Given the description of an element on the screen output the (x, y) to click on. 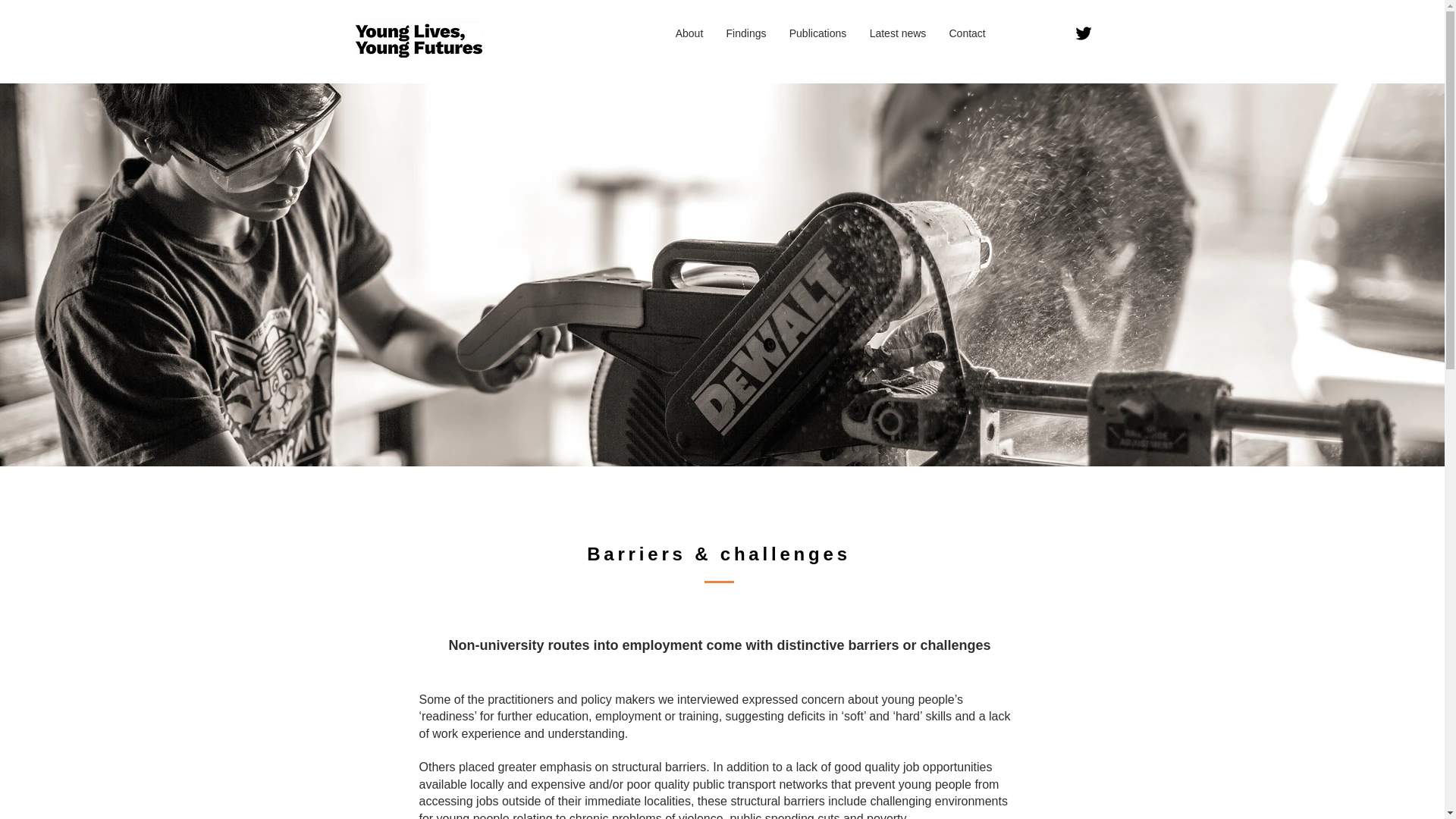
Contact (966, 33)
Latest news (898, 33)
Publications (818, 33)
